Given the description of an element on the screen output the (x, y) to click on. 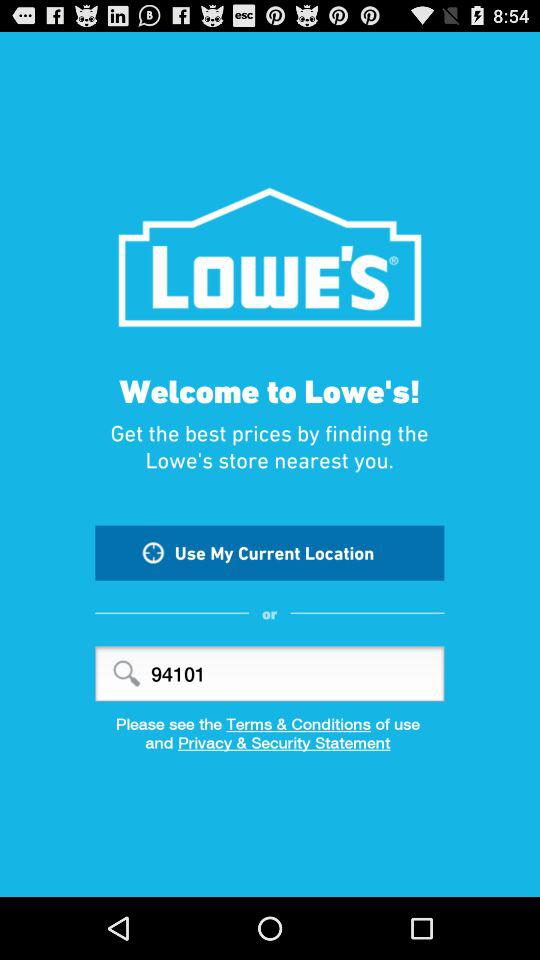
launch item below the or icon (269, 673)
